Given the description of an element on the screen output the (x, y) to click on. 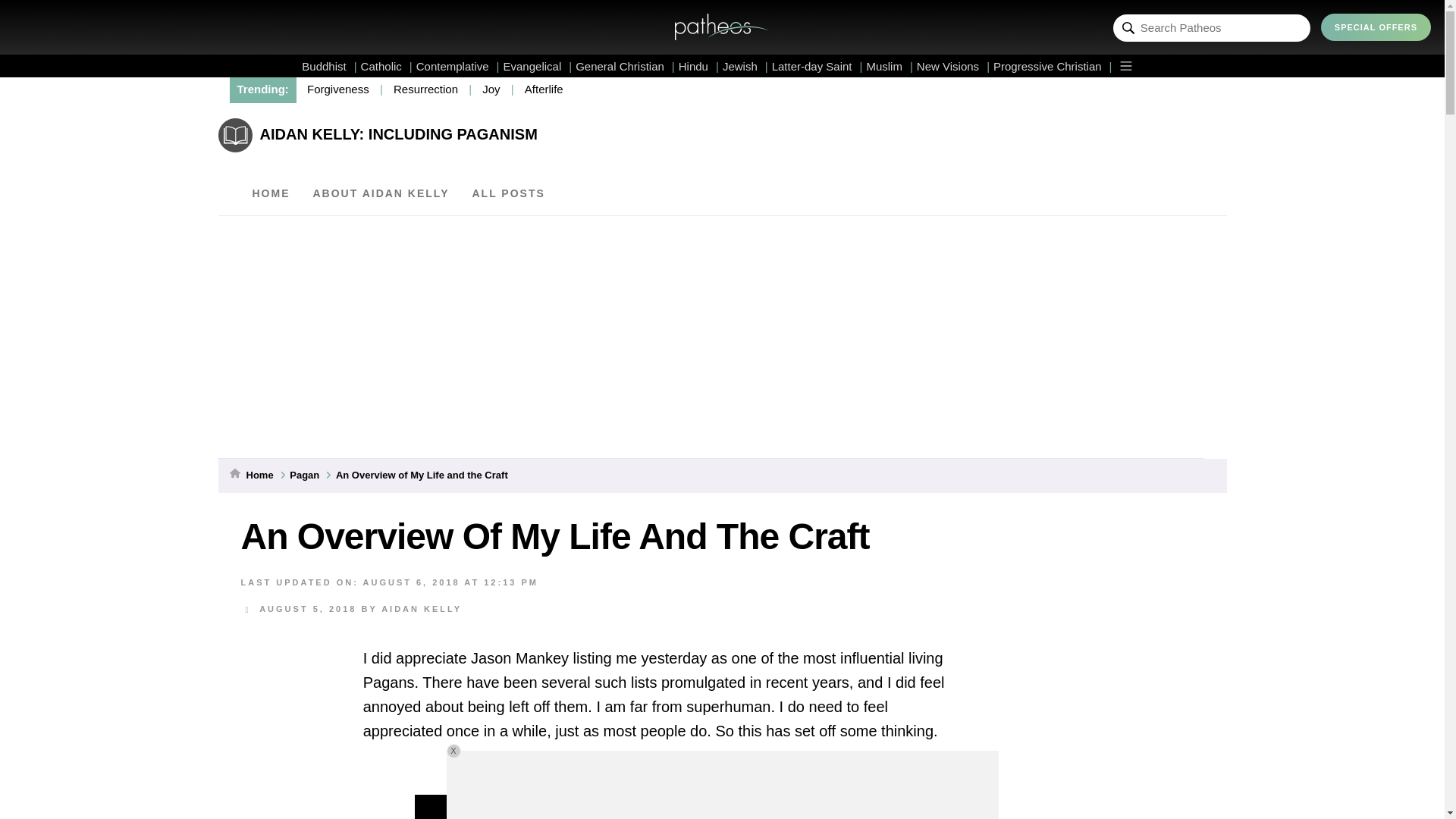
Latter-day Saint (817, 65)
Buddhist (328, 65)
General Christian (625, 65)
SPECIAL OFFERS (1375, 26)
Hindu (698, 65)
Evangelical (537, 65)
Catholic (386, 65)
Muslim (889, 65)
3rd party ad content (721, 785)
Contemplative (457, 65)
3rd party ad content (1098, 744)
New Visions (953, 65)
Jewish (745, 65)
Progressive Christian (1052, 65)
